Given the description of an element on the screen output the (x, y) to click on. 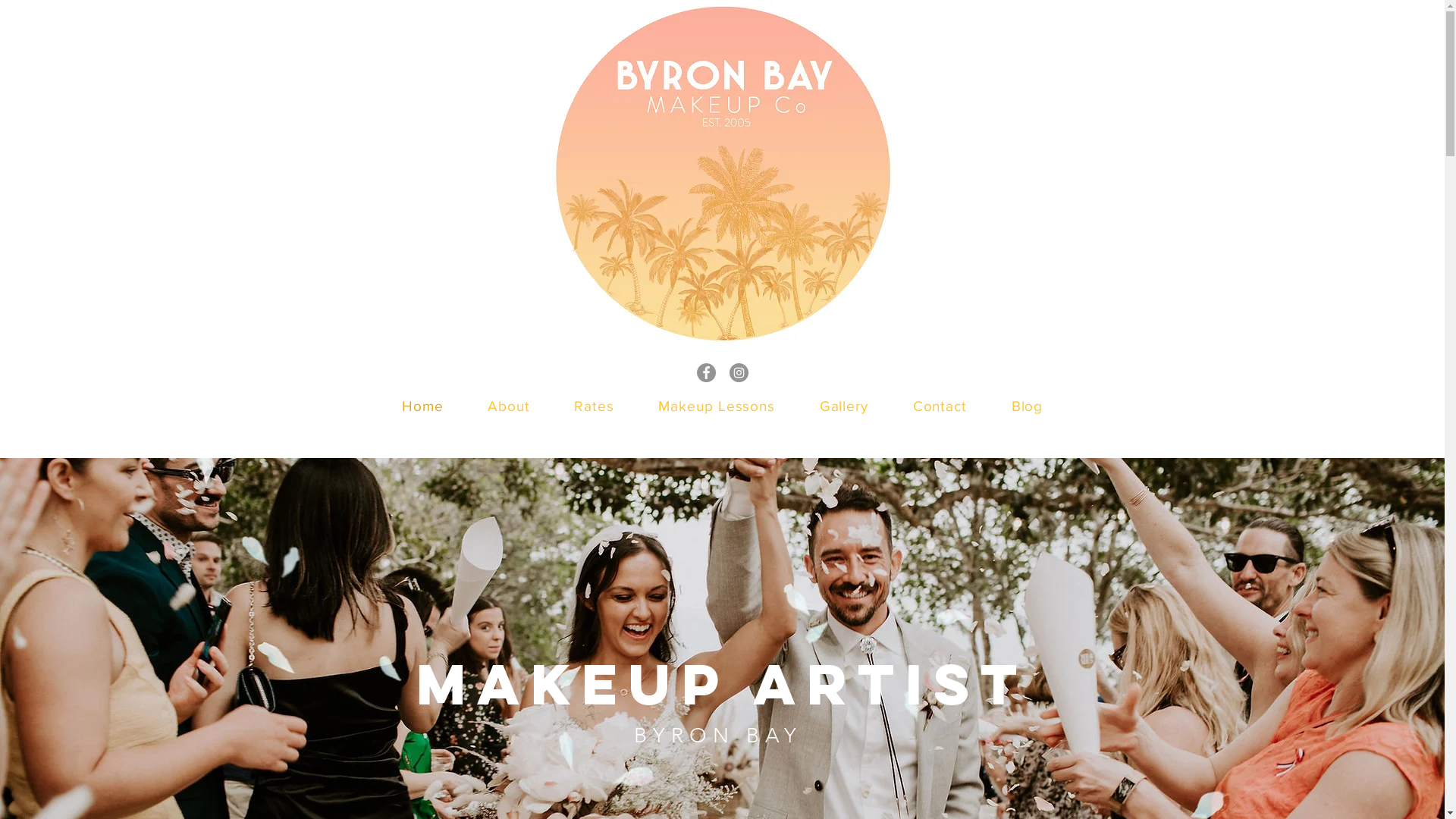
Makeup Lessons Element type: text (716, 406)
Gallery Element type: text (843, 406)
Rates Element type: text (594, 406)
Blog Element type: text (1026, 406)
About Element type: text (508, 406)
Home Element type: text (421, 406)
Contact Element type: text (939, 406)
